Given the description of an element on the screen output the (x, y) to click on. 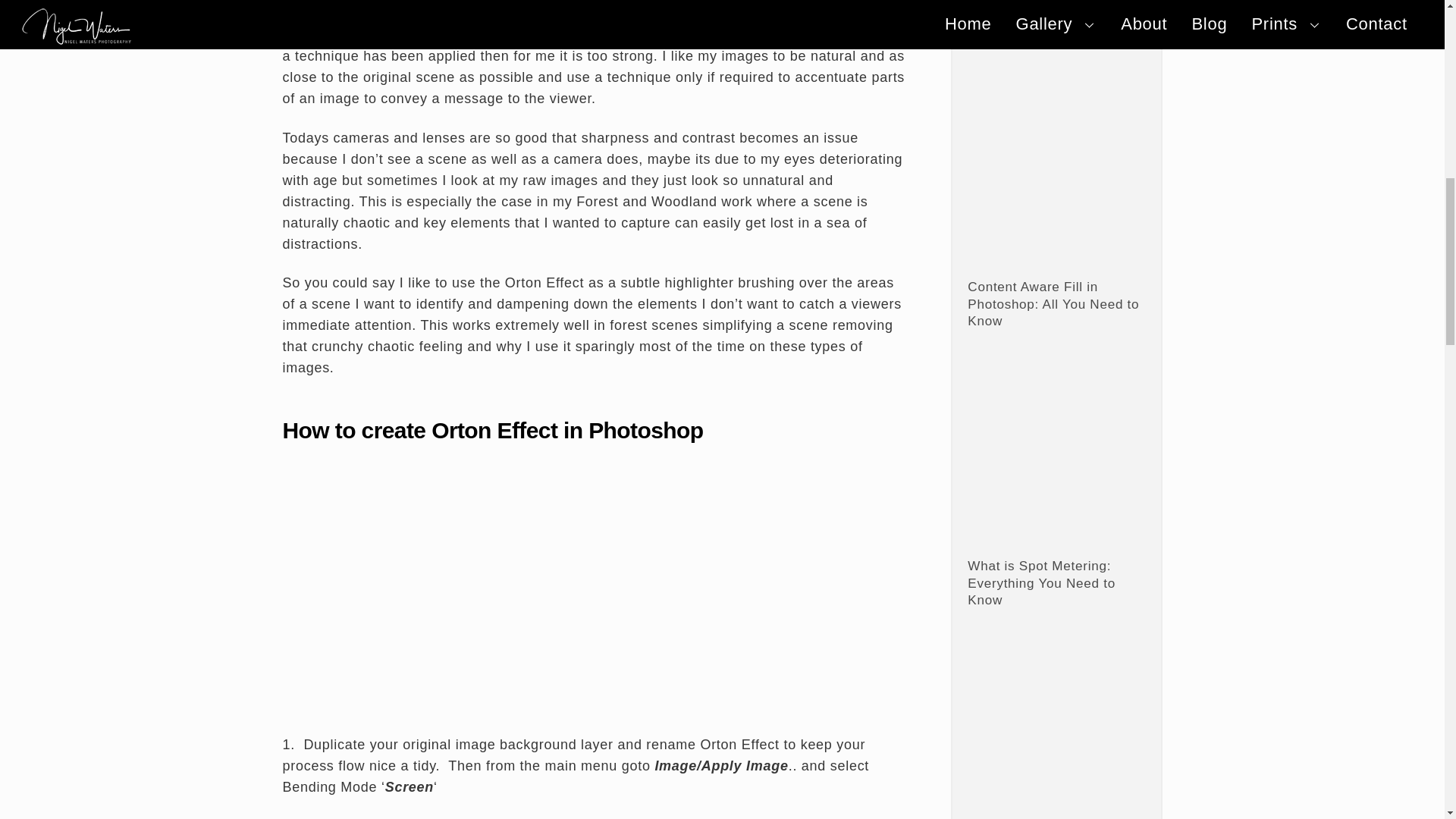
YouTube video player (593, 590)
Content Aware Fill in Photoshop: All You Need to Know (1054, 177)
What is a Smart Object in Photoshop (1054, 730)
What is Spot Metering: Everything You Need to Know (1054, 457)
Camera Lens Hoods: Why When How to use them (1054, 5)
